Given the description of an element on the screen output the (x, y) to click on. 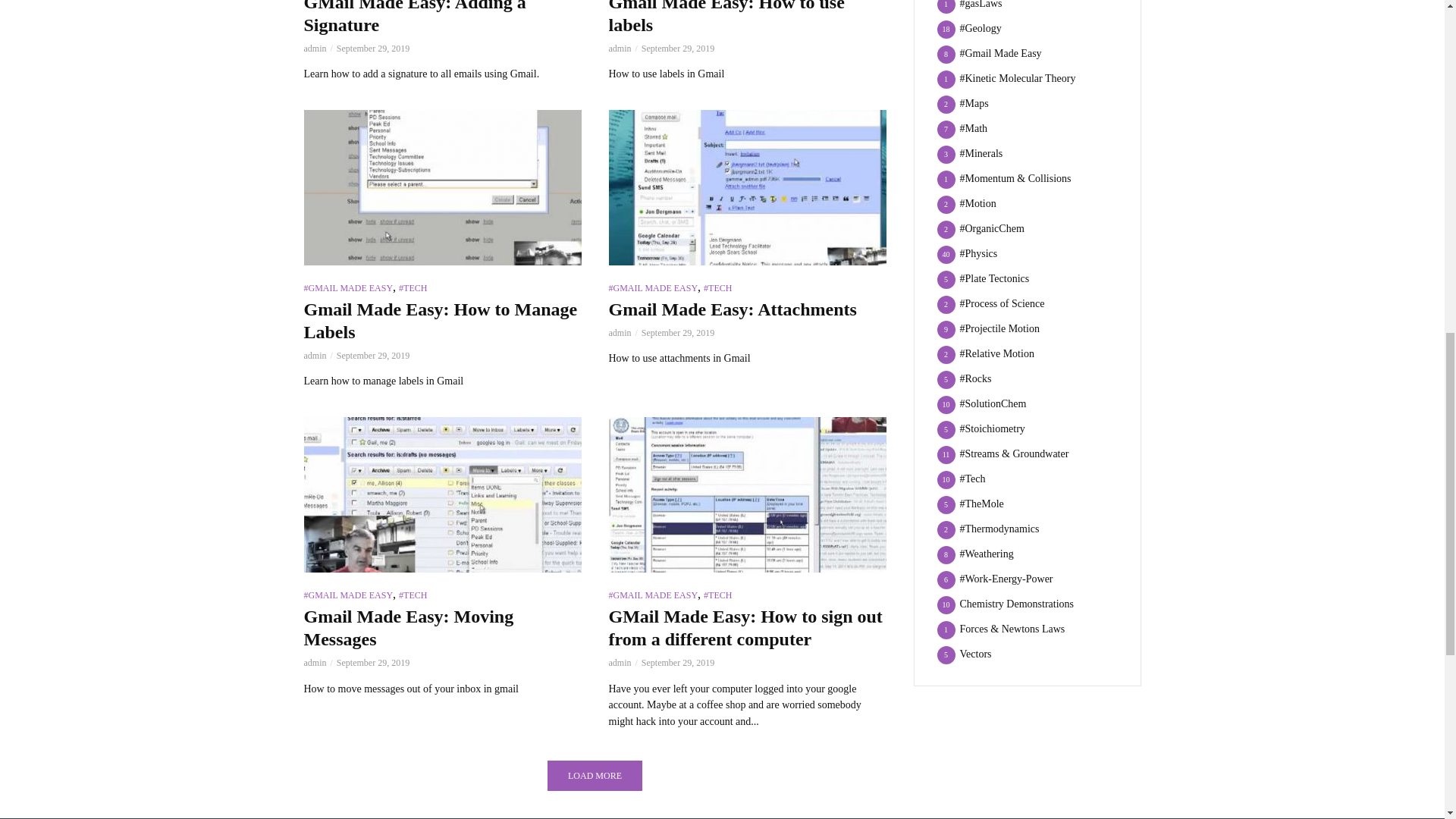
Gmail Made Easy:  Attachments (746, 187)
Gmail Made Easy: Moving Messages (441, 494)
Gmail Made Easy:  How to Manage Labels (441, 187)
GMail Made Easy: How to sign out from a different computer (746, 494)
